Given the description of an element on the screen output the (x, y) to click on. 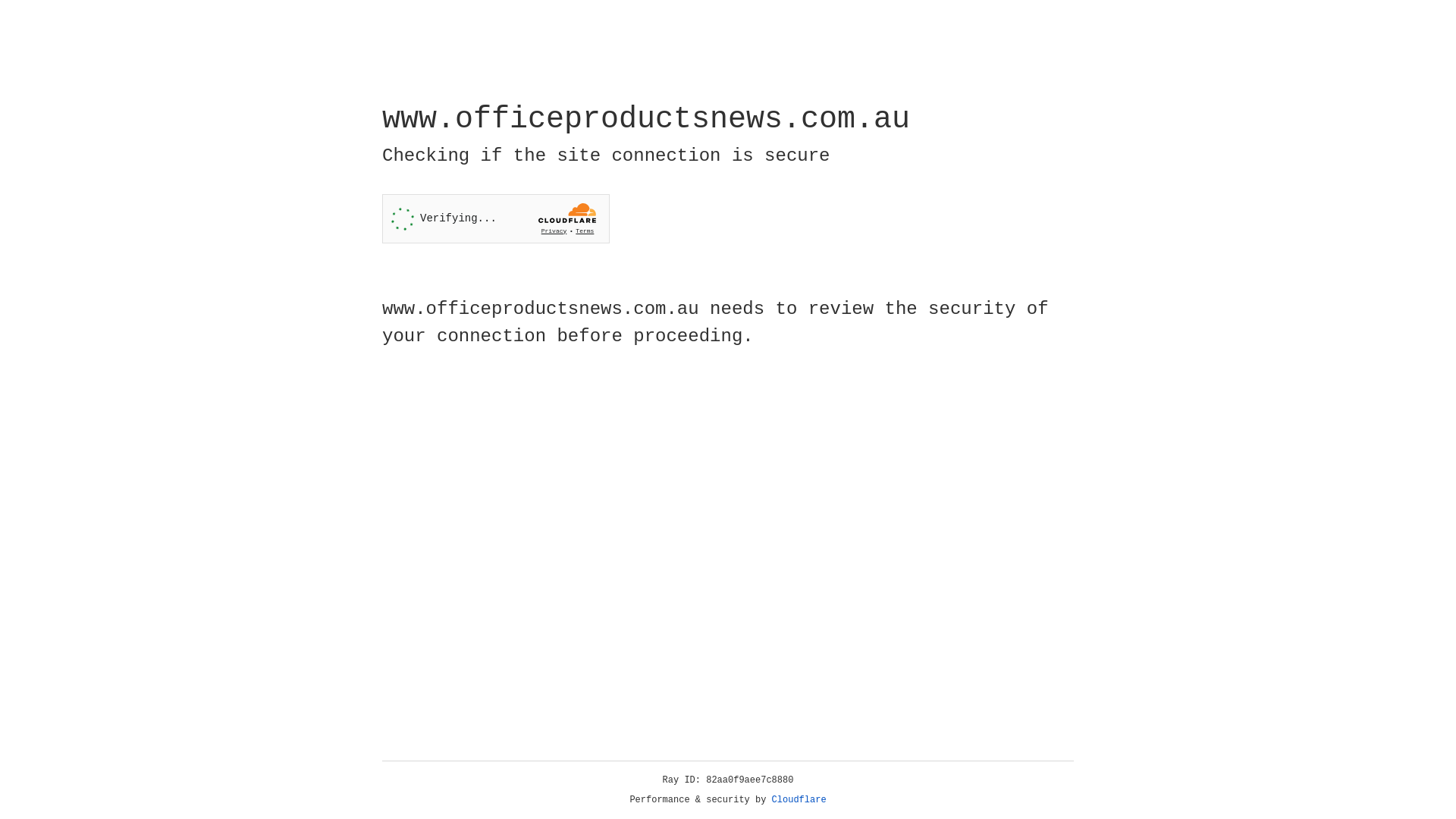
Widget containing a Cloudflare security challenge Element type: hover (495, 218)
Cloudflare Element type: text (798, 799)
